Given the description of an element on the screen output the (x, y) to click on. 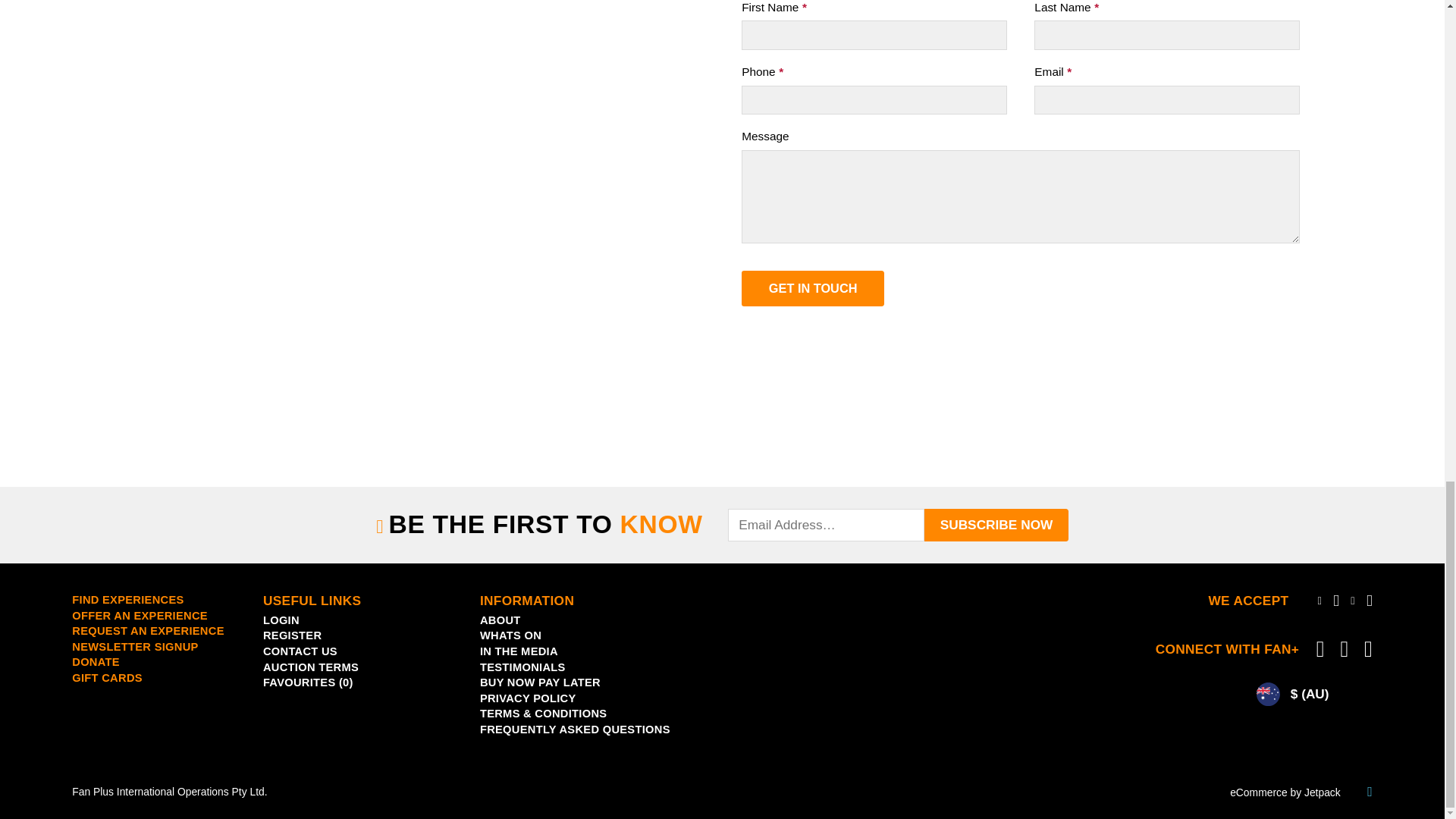
DONATE (95, 662)
NEWSLETTER SIGNUP (134, 646)
REQUEST AN EXPERIENCE (147, 630)
GIFT CARDS (106, 677)
FIND EXPERIENCES (127, 599)
OFFER AN EXPERIENCE (139, 615)
GET IN TOUCH (812, 289)
LOGIN (281, 620)
SUBSCRIBE NOW (995, 524)
